Given the description of an element on the screen output the (x, y) to click on. 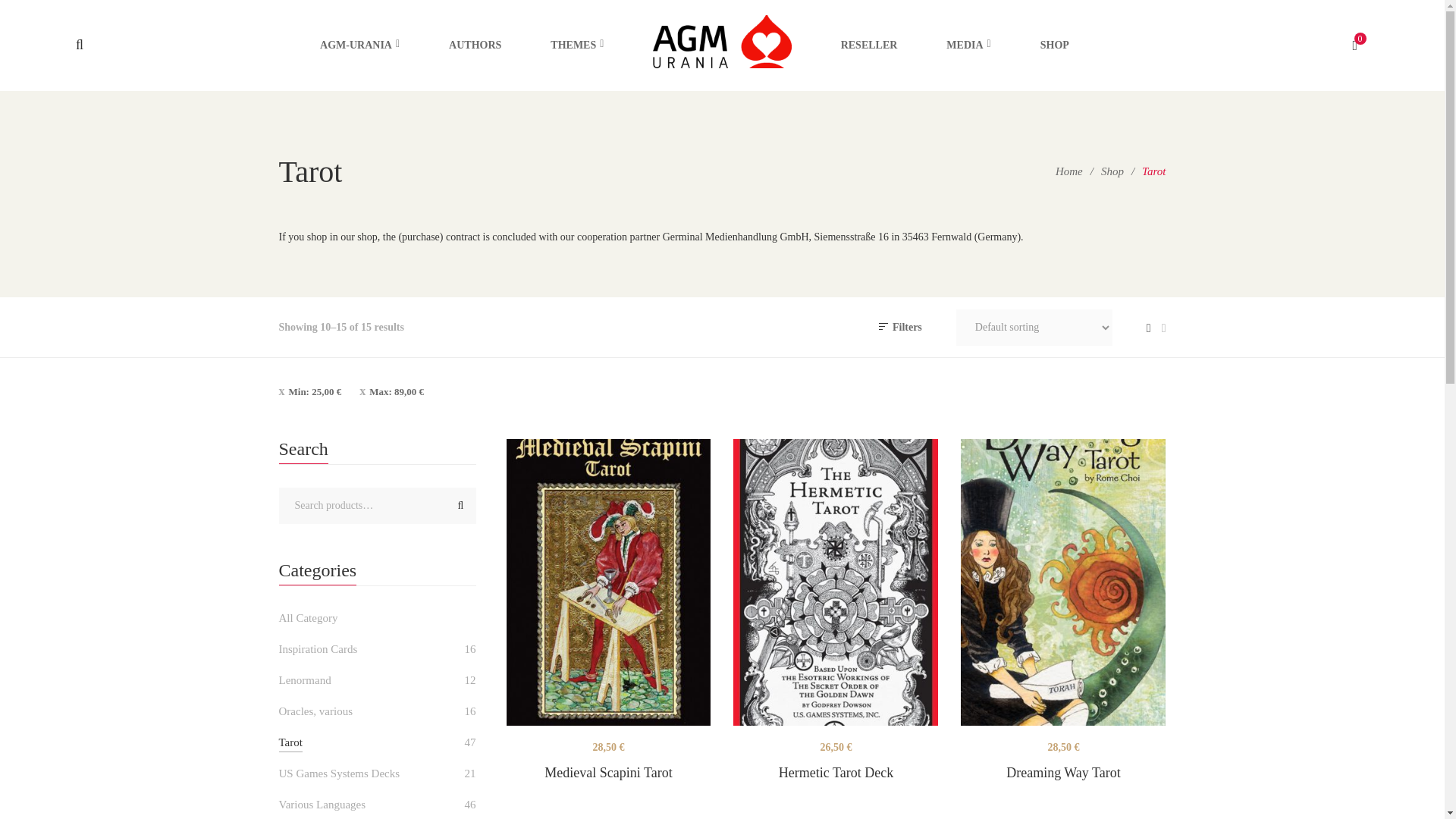
Tarotworld- (721, 45)
SHOP (1054, 45)
Medieval Scapini Tarot (608, 581)
AUTHORS (474, 45)
Home (1069, 171)
MEDIA (968, 45)
Dreaming Way Tarot (1063, 581)
THEMES (577, 45)
Shop (1112, 171)
RESELLER (869, 45)
Hermetic Tarot Deck (835, 581)
0 (1360, 45)
AGM-URANIA (359, 45)
